Given the description of an element on the screen output the (x, y) to click on. 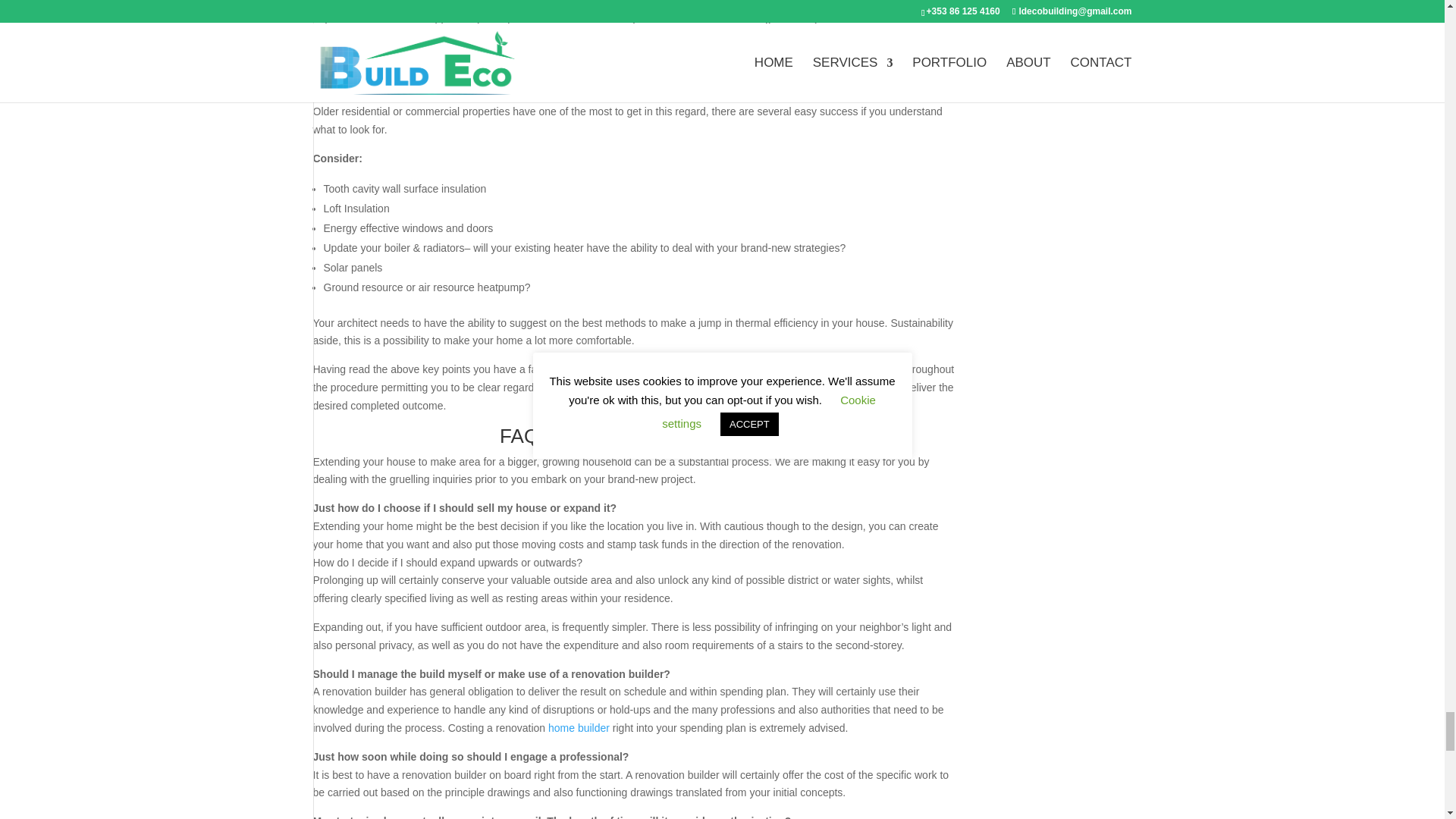
home builder (579, 727)
